Given the description of an element on the screen output the (x, y) to click on. 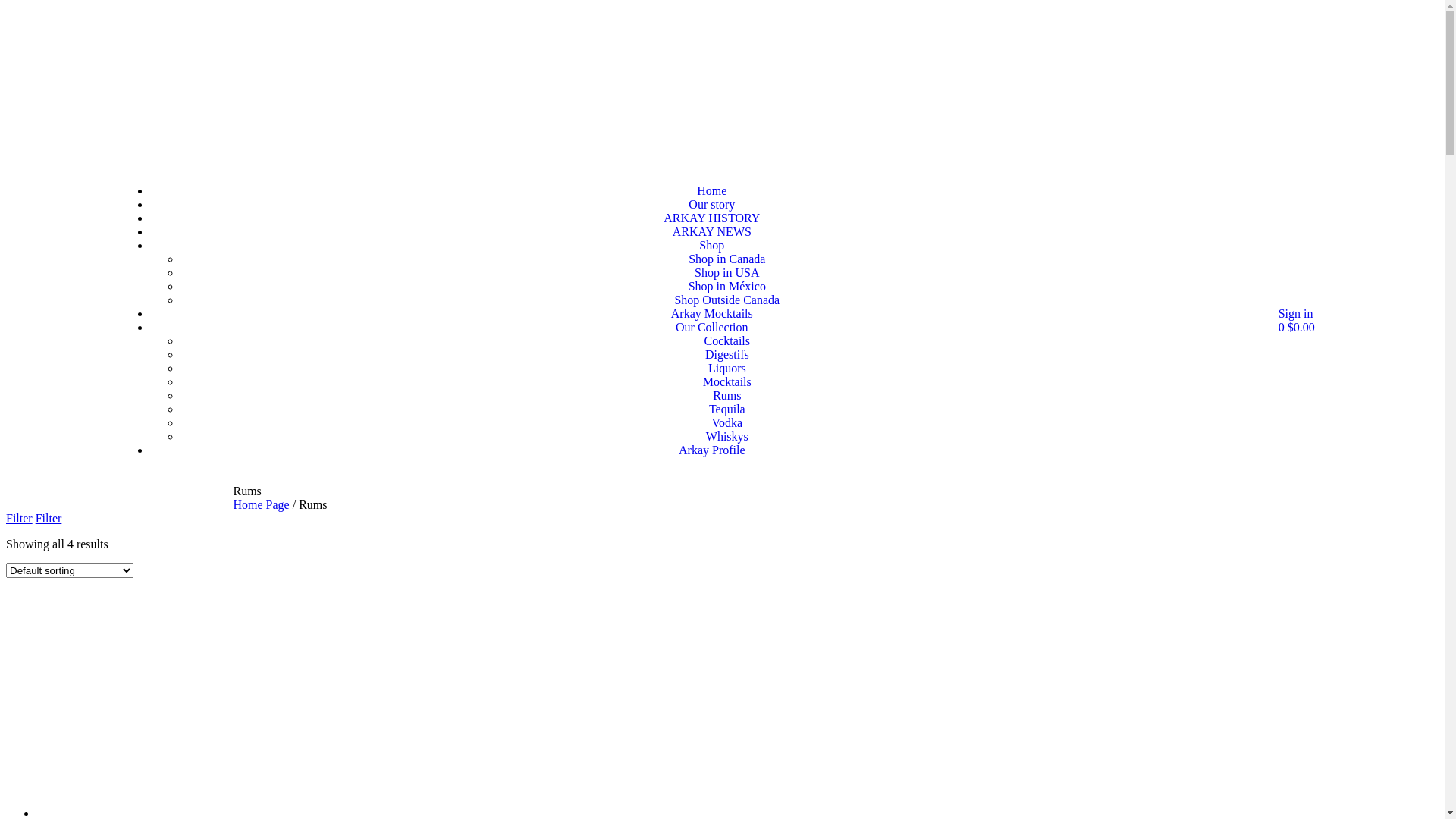
Shop Element type: text (711, 244)
Arkay Profile Element type: text (711, 449)
ARKAY NEWS Element type: text (711, 231)
Our Collection Element type: text (711, 326)
Filter Element type: text (48, 517)
Filter Element type: text (19, 517)
Home Element type: text (711, 190)
Shop Outside Canada Element type: text (726, 299)
Whiskys Element type: text (727, 435)
Digestifs Element type: text (727, 354)
Shop in USA Element type: text (726, 272)
0 $0.00 Element type: text (1296, 326)
Liquors Element type: text (727, 367)
Home Page Element type: text (261, 504)
Mocktails Element type: text (726, 381)
Vodka Element type: text (726, 422)
Arkay Mocktails Element type: text (712, 313)
Sign in Element type: text (1295, 313)
ARKAY HISTORY Element type: text (711, 217)
Our story Element type: text (711, 203)
Tequila Element type: text (727, 408)
Cocktails Element type: text (726, 340)
Shop in Canada Element type: text (726, 258)
Rums Element type: text (726, 395)
